Given the description of an element on the screen output the (x, y) to click on. 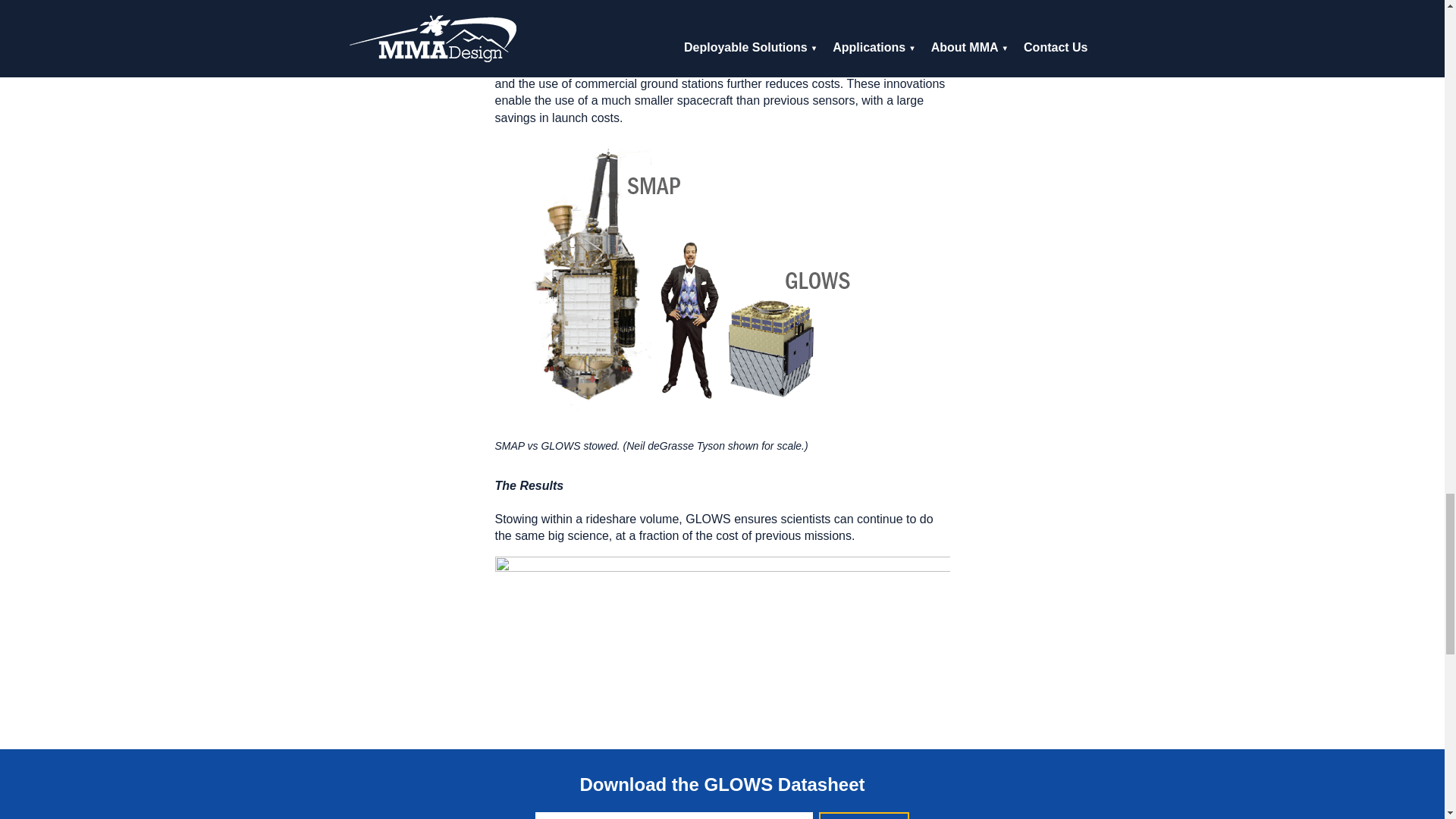
Submit (863, 815)
Submit (863, 815)
